Given the description of an element on the screen output the (x, y) to click on. 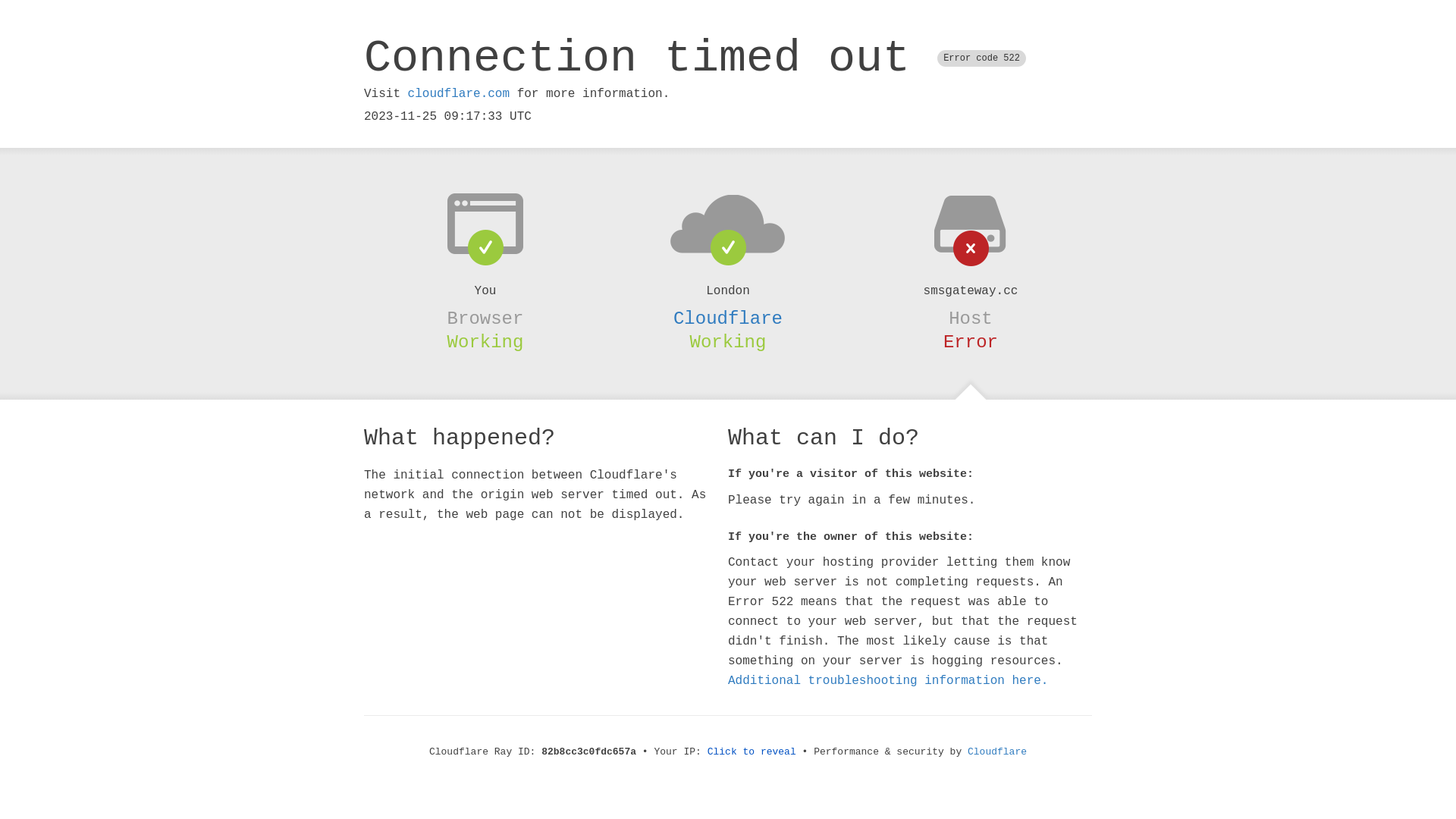
Additional troubleshooting information here. Element type: text (888, 680)
cloudflare.com Element type: text (458, 93)
Cloudflare Element type: text (727, 318)
Cloudflare Element type: text (996, 751)
Click to reveal Element type: text (751, 751)
